Given the description of an element on the screen output the (x, y) to click on. 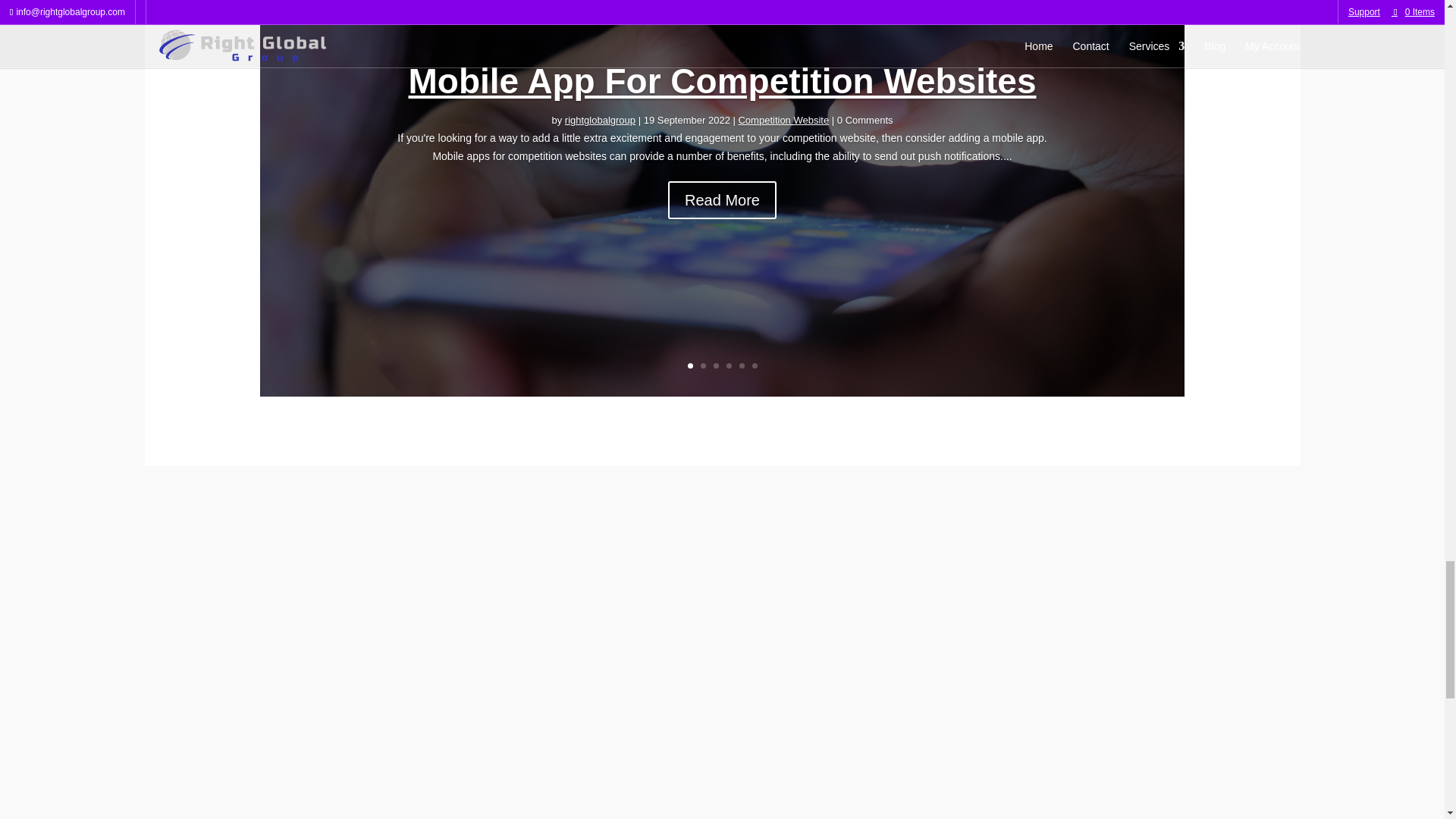
Posts by rightglobalgroup (599, 120)
